Given the description of an element on the screen output the (x, y) to click on. 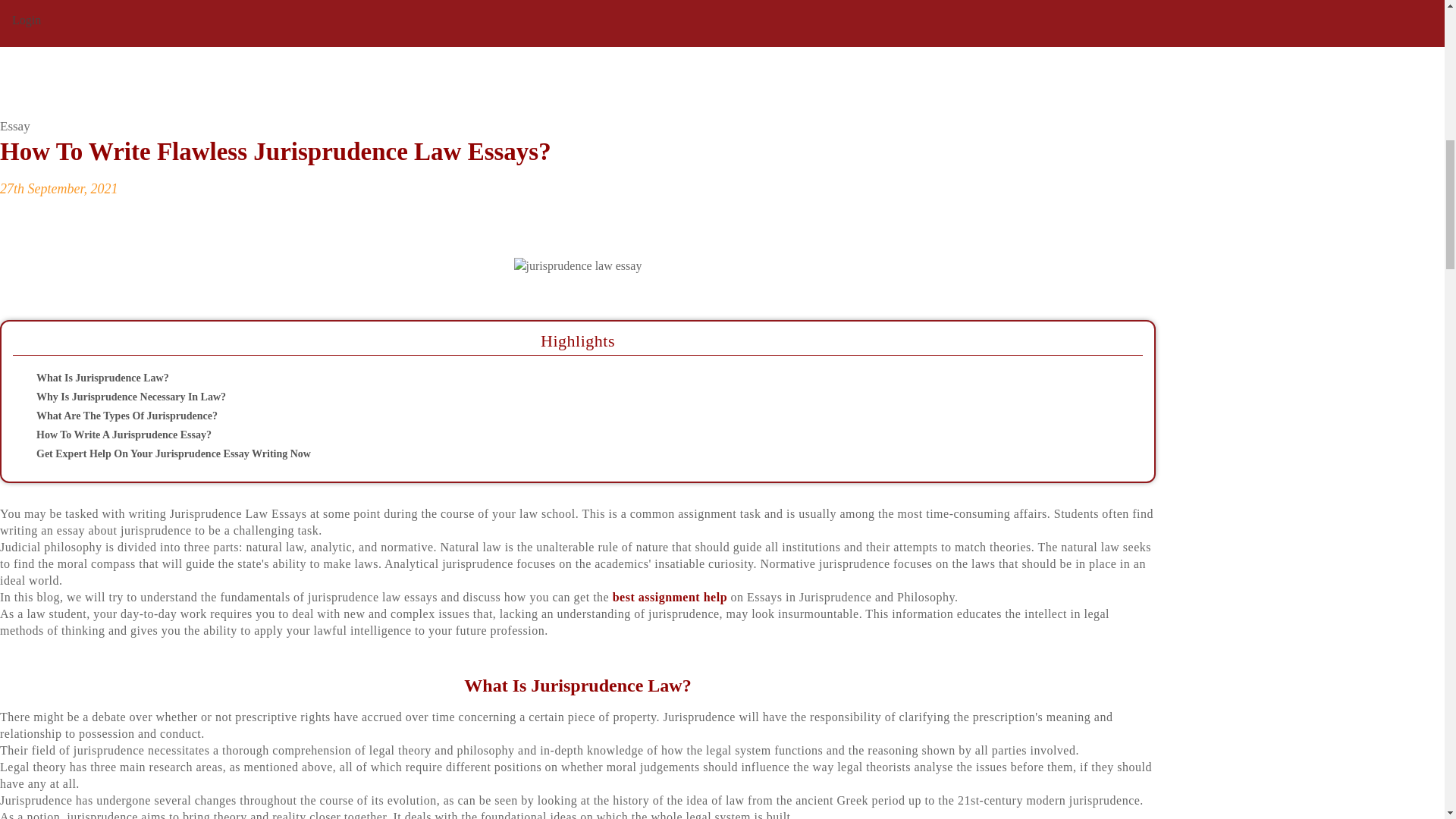
Get Expert Help On Your Jurisprudence Essay Writing Now (564, 453)
What Are The Types Of Jurisprudence? (564, 416)
Get Expert Help On Your Jurisprudence Essay Writing Now (564, 453)
What Is Jurisprudence Law? (564, 378)
How To Write A Jurisprudence Essay? (564, 435)
Why Is Jurisprudence Necessary In Law? (564, 396)
How To Write A Jurisprudence Essay? (564, 435)
What Is Jurisprudence Law? (564, 378)
What Are The Types Of Jurisprudence? (564, 416)
Why Is Jurisprudence Necessary In Law? (564, 396)
